Given the description of an element on the screen output the (x, y) to click on. 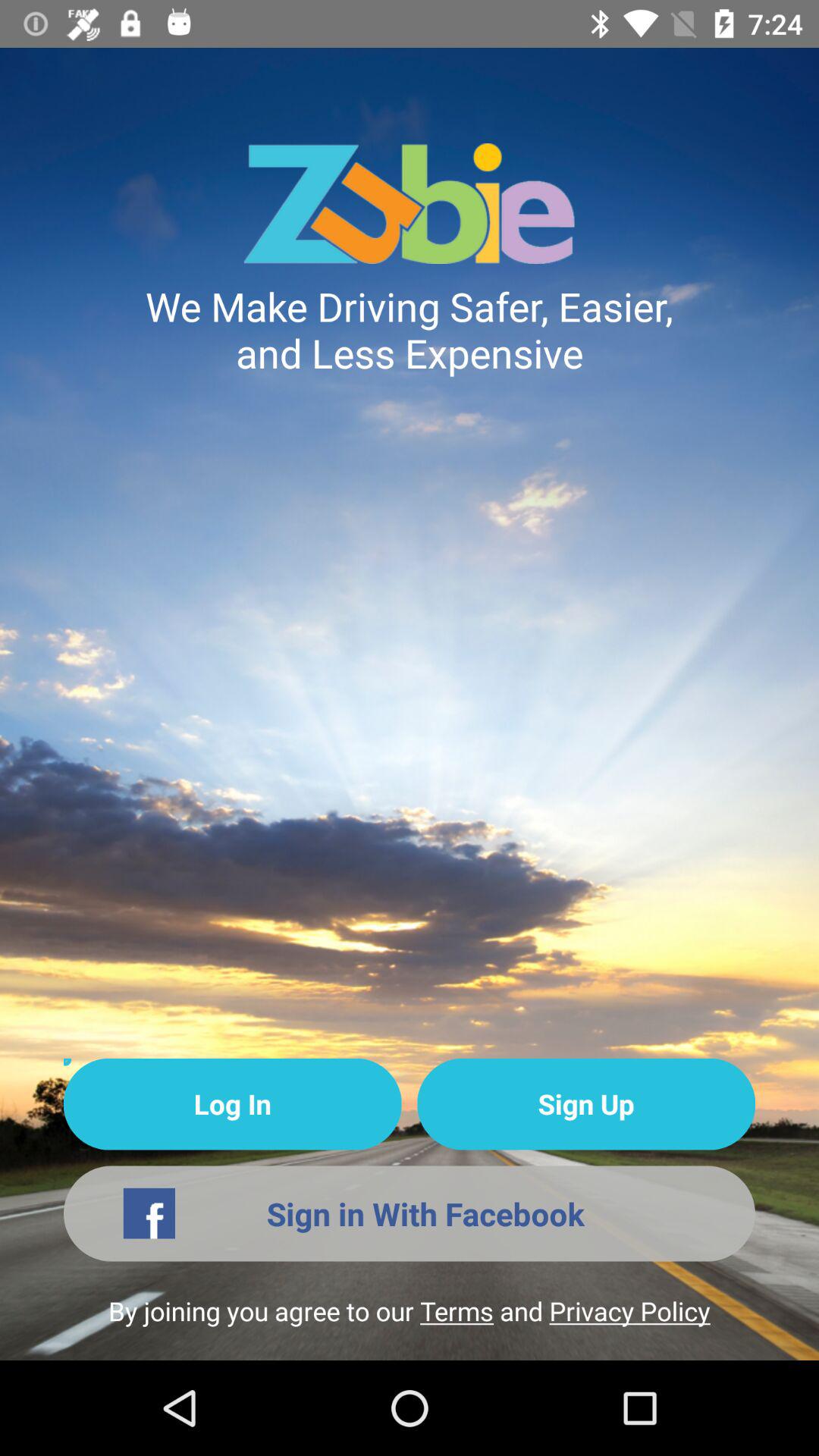
select the icon at the bottom right corner (586, 1104)
